Given the description of an element on the screen output the (x, y) to click on. 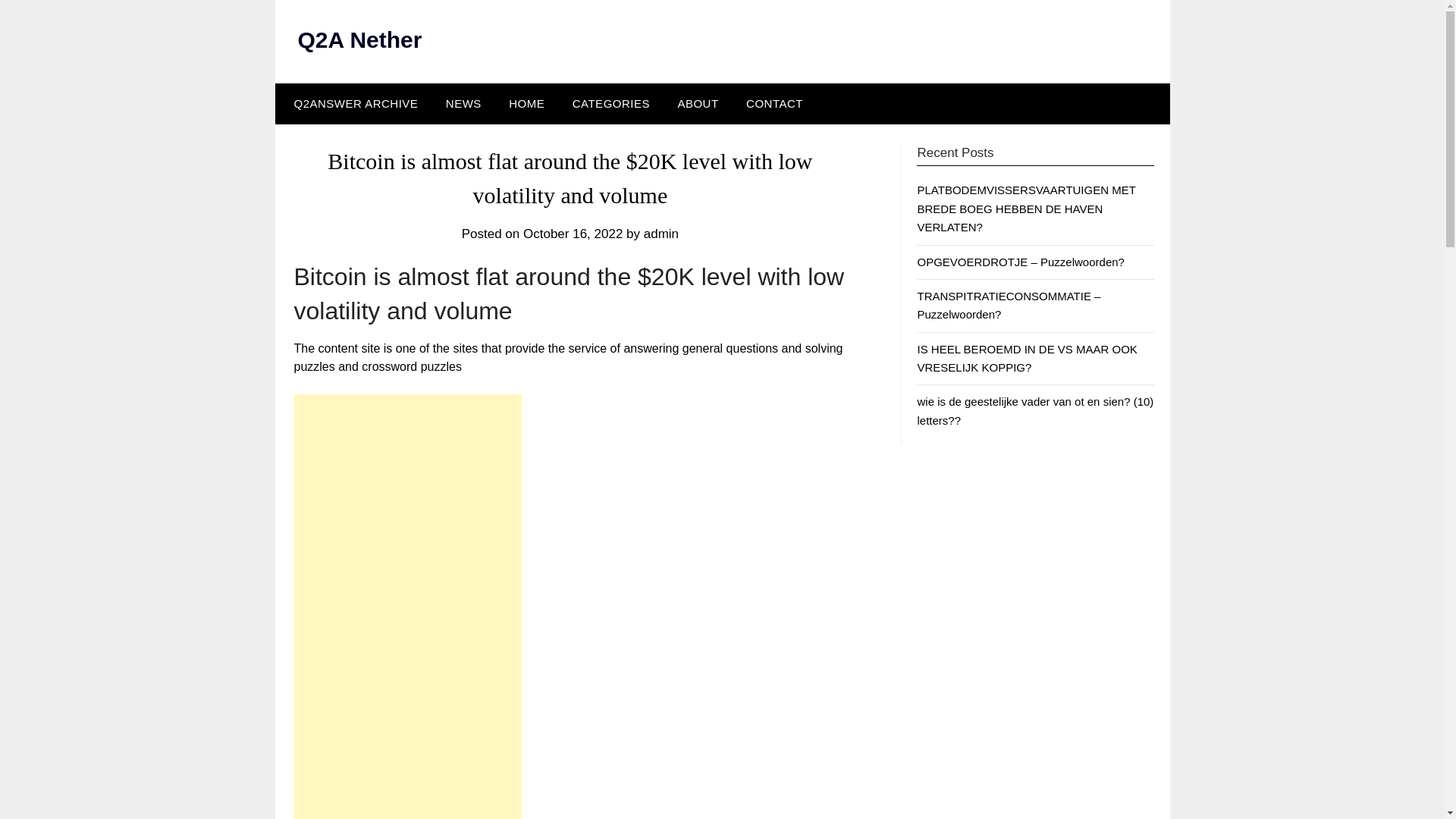
ABOUT (697, 103)
admin (660, 233)
HOME (526, 103)
October 16, 2022 (572, 233)
Q2ANSWER ARCHIVE (352, 103)
Q2A Nether (359, 39)
CATEGORIES (611, 103)
IS HEEL BEROEMD IN DE VS MAAR OOK VRESELIJK KOPPIG? (1027, 358)
NEWS (463, 103)
